Given the description of an element on the screen output the (x, y) to click on. 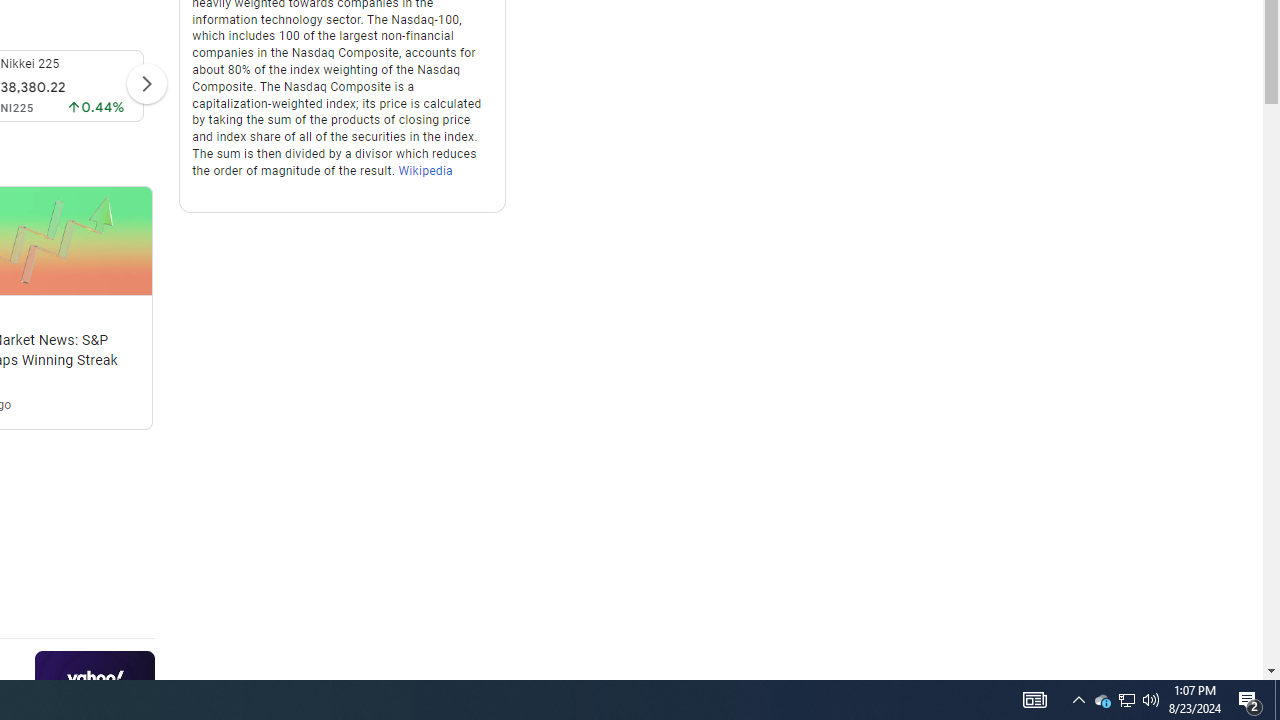
Wikipedia (425, 169)
